Given the description of an element on the screen output the (x, y) to click on. 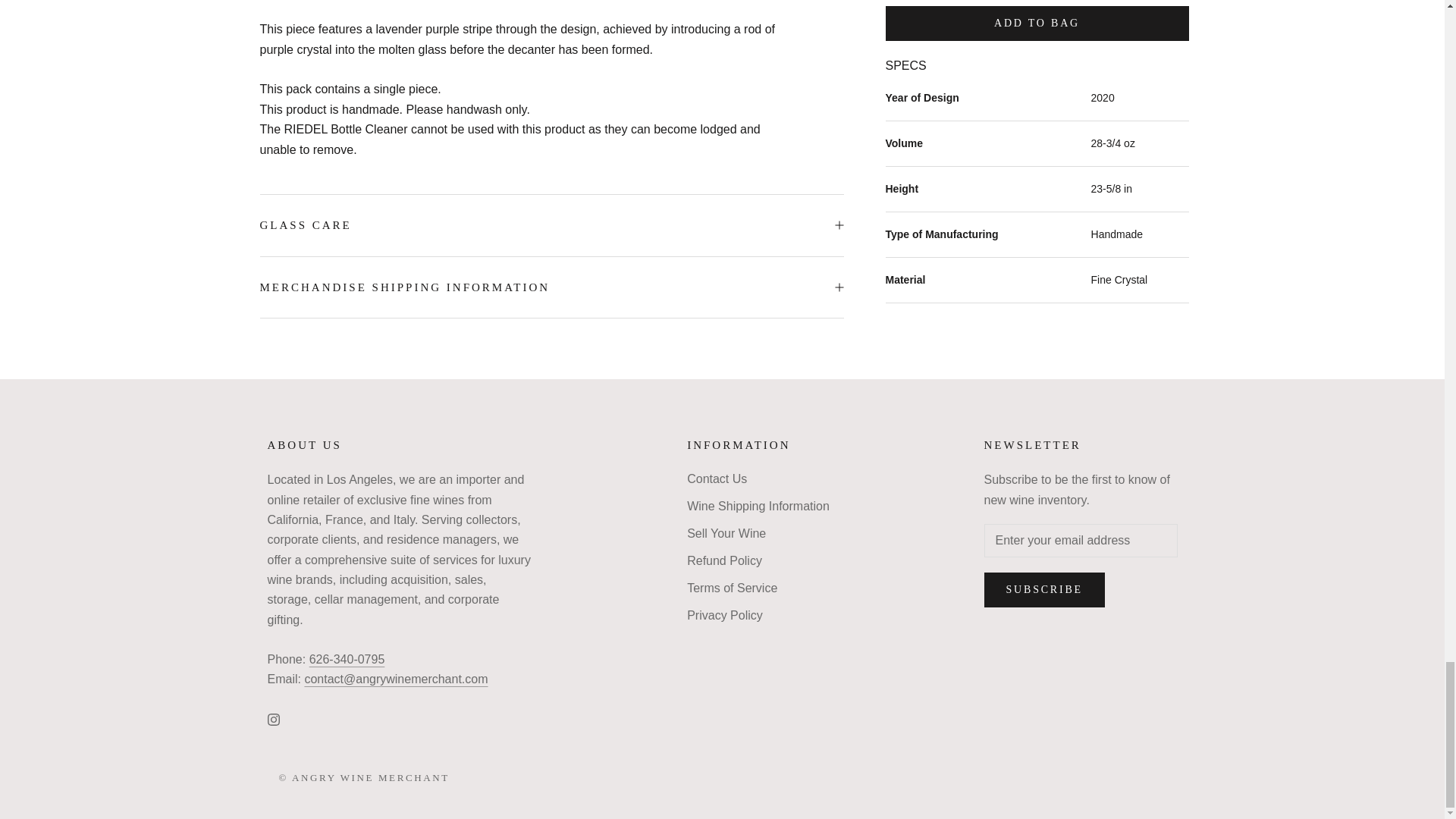
GLASS CARE (551, 225)
MERCHANDISE SHIPPING INFORMATION (551, 287)
